Given the description of an element on the screen output the (x, y) to click on. 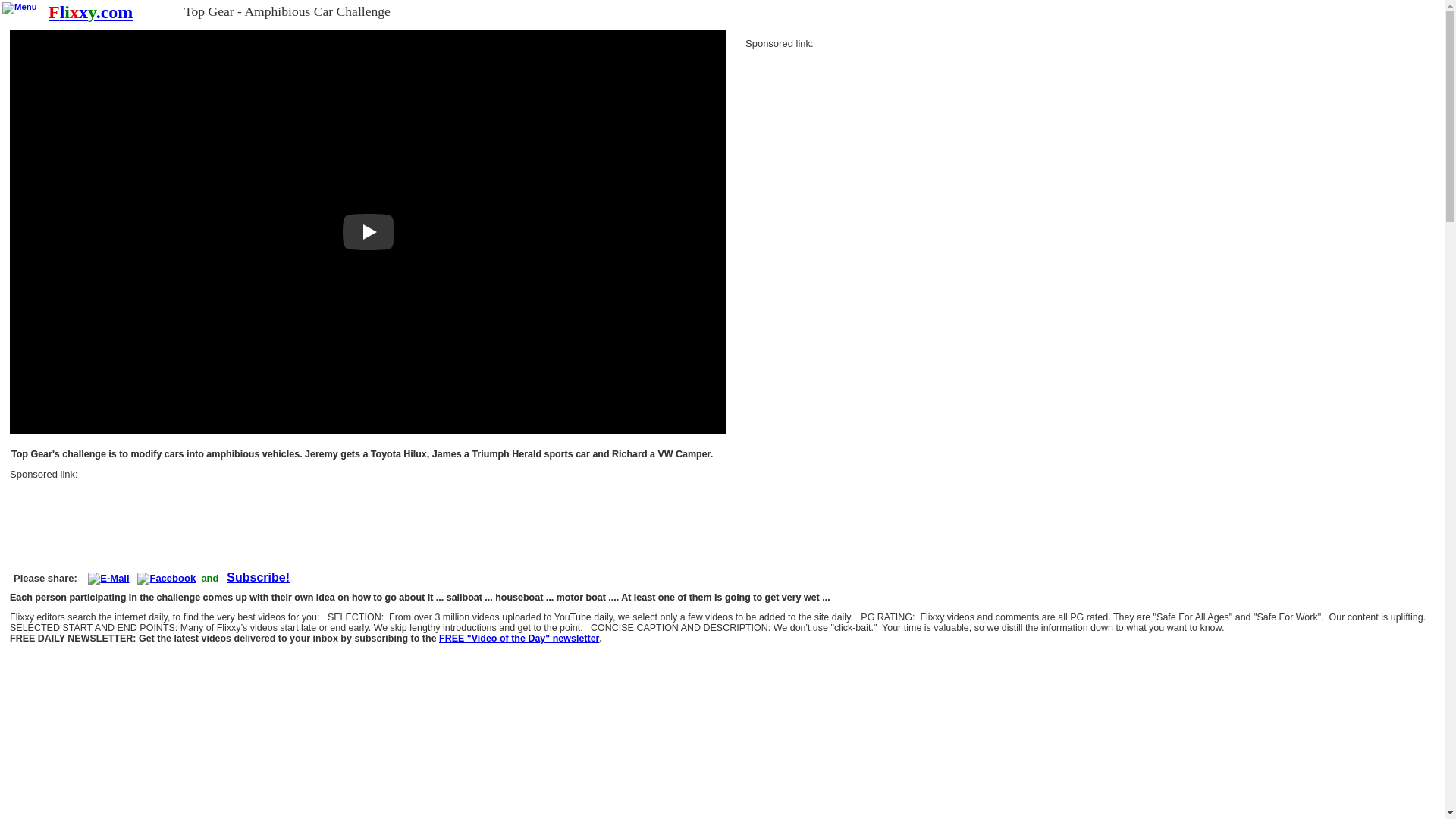
300x250 (858, 139)
Subscribe! (258, 578)
Play (368, 231)
Subscribe! (518, 638)
FREE "Video of the Day" newsletter (518, 638)
Share via Facebook (165, 578)
Menu (19, 8)
Share via E-mail (108, 578)
FREE Newsletter (258, 578)
Flixxy.com (89, 12)
Home (89, 12)
